Given the description of an element on the screen output the (x, y) to click on. 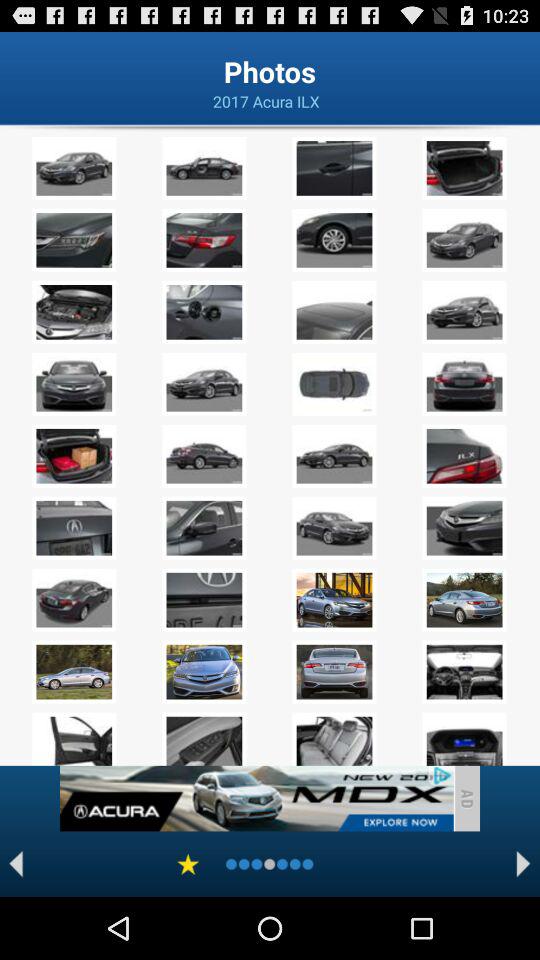
favorite page (188, 864)
